Given the description of an element on the screen output the (x, y) to click on. 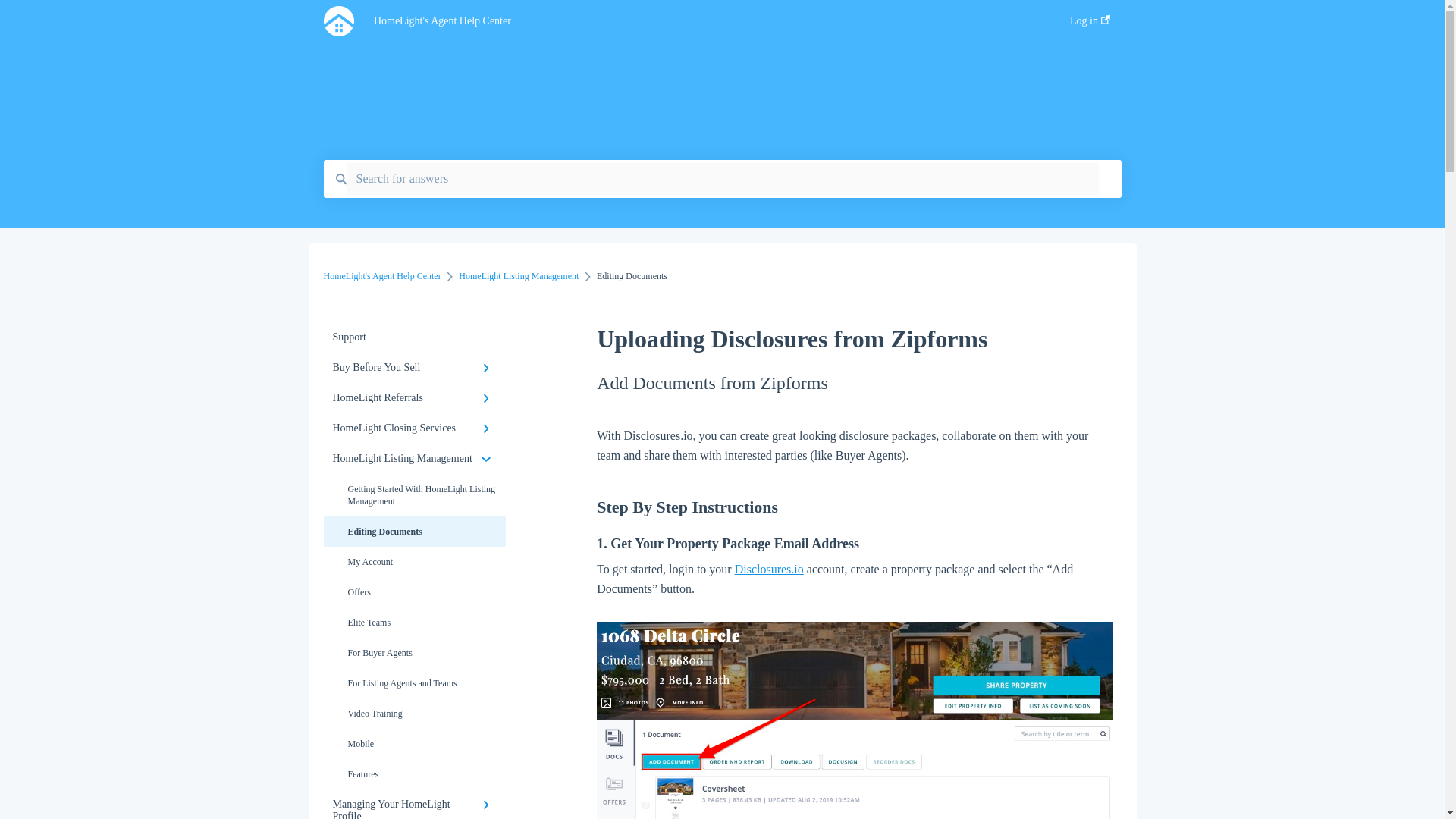
HomeLight's Agent Help Center (382, 276)
Support (414, 337)
HomeLight's Agent Help Center (699, 21)
HomeLight Listing Management (518, 276)
Log in (1089, 25)
